Given the description of an element on the screen output the (x, y) to click on. 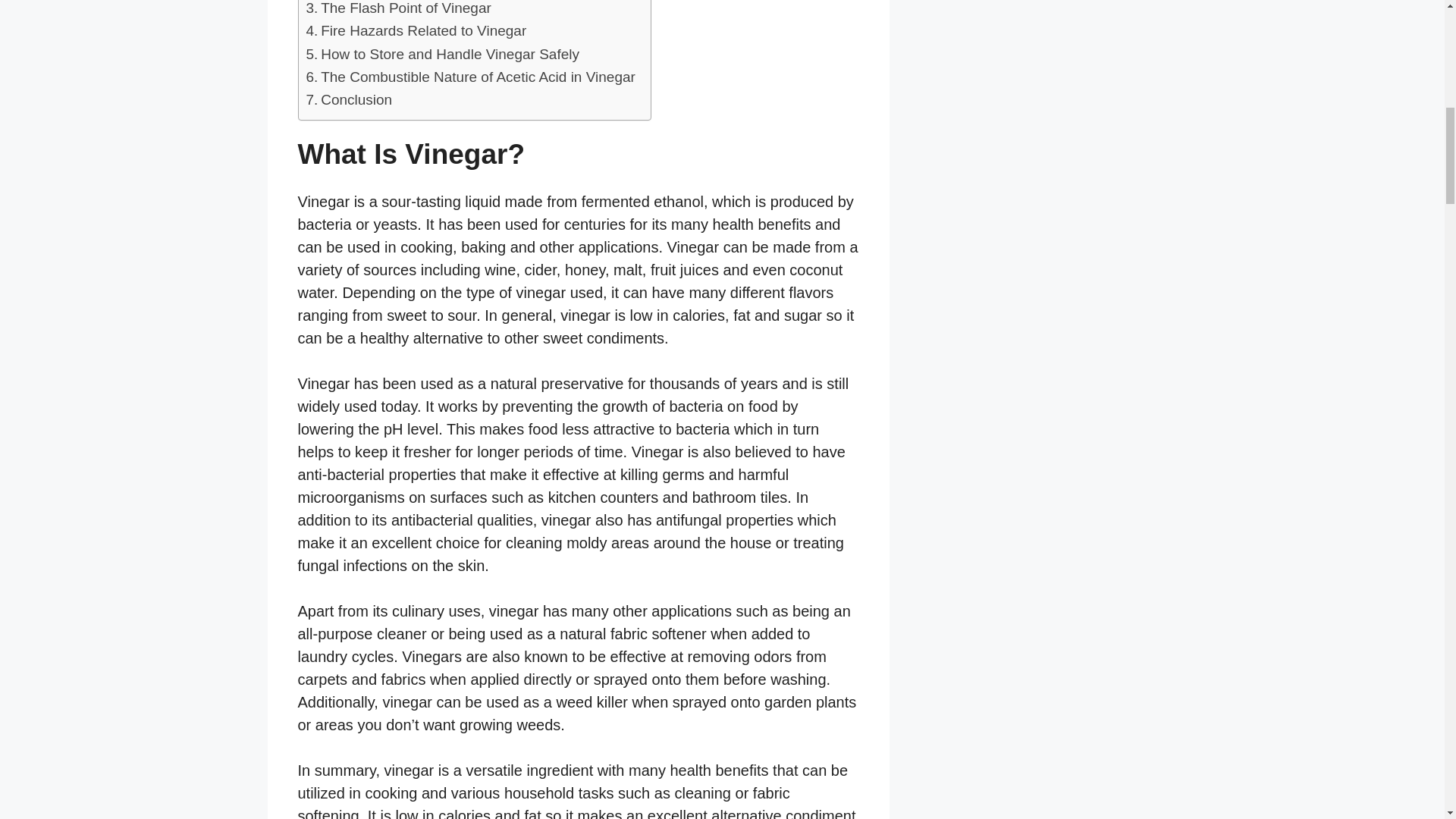
Conclusion (349, 99)
How to Store and Handle Vinegar Safely (442, 54)
How to Store and Handle Vinegar Safely (442, 54)
Fire Hazards Related to Vinegar (416, 30)
Fire Hazards Related to Vinegar (416, 30)
The Combustible Nature of Acetic Acid in Vinegar (469, 77)
The Flash Point of Vinegar (398, 9)
The Combustible Nature of Acetic Acid in Vinegar (469, 77)
The Flash Point of Vinegar (398, 9)
